Given the description of an element on the screen output the (x, y) to click on. 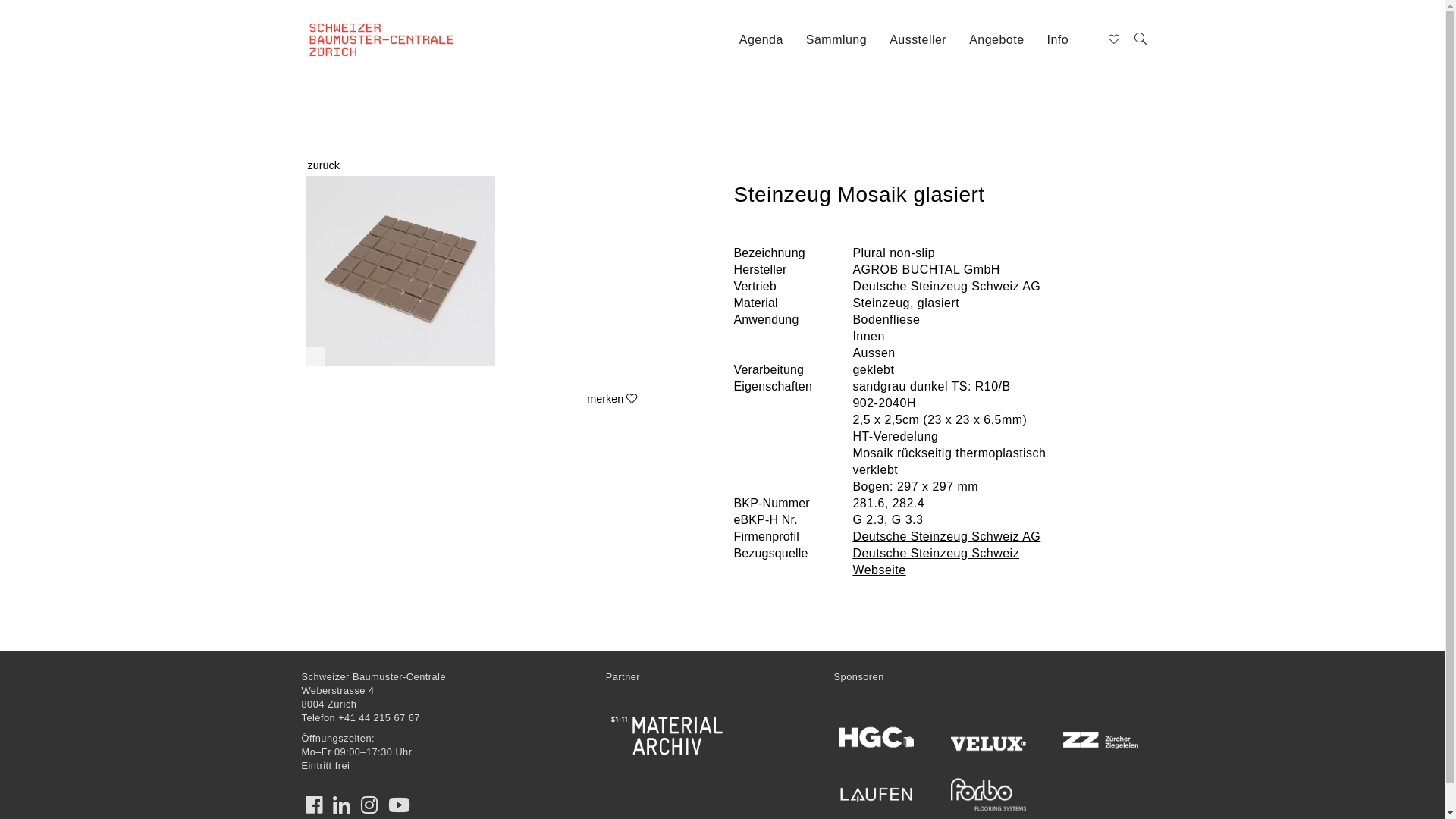
S1-11 Material Archiv Element type: hover (666, 735)
Steinzeug Mosaik glasiert Element type: hover (399, 270)
Sammlung Element type: text (836, 40)
Schweizer Baumuster-Centrale Element type: hover (401, 27)
Aussteller Element type: text (917, 40)
Agenda Element type: text (761, 40)
Merkzettel Element type: hover (1112, 38)
Deutsche Steinzeug Schweiz Webseite Element type: text (935, 561)
Deutsche Steinzeug Schweiz AG Element type: text (946, 536)
HGC Element type: hover (876, 736)
VELUX Element type: hover (988, 740)
Laufen Element type: hover (876, 794)
Info Element type: text (1057, 40)
Angebote Element type: text (996, 40)
forbo Element type: hover (988, 794)
merken Element type: text (611, 398)
